Given the description of an element on the screen output the (x, y) to click on. 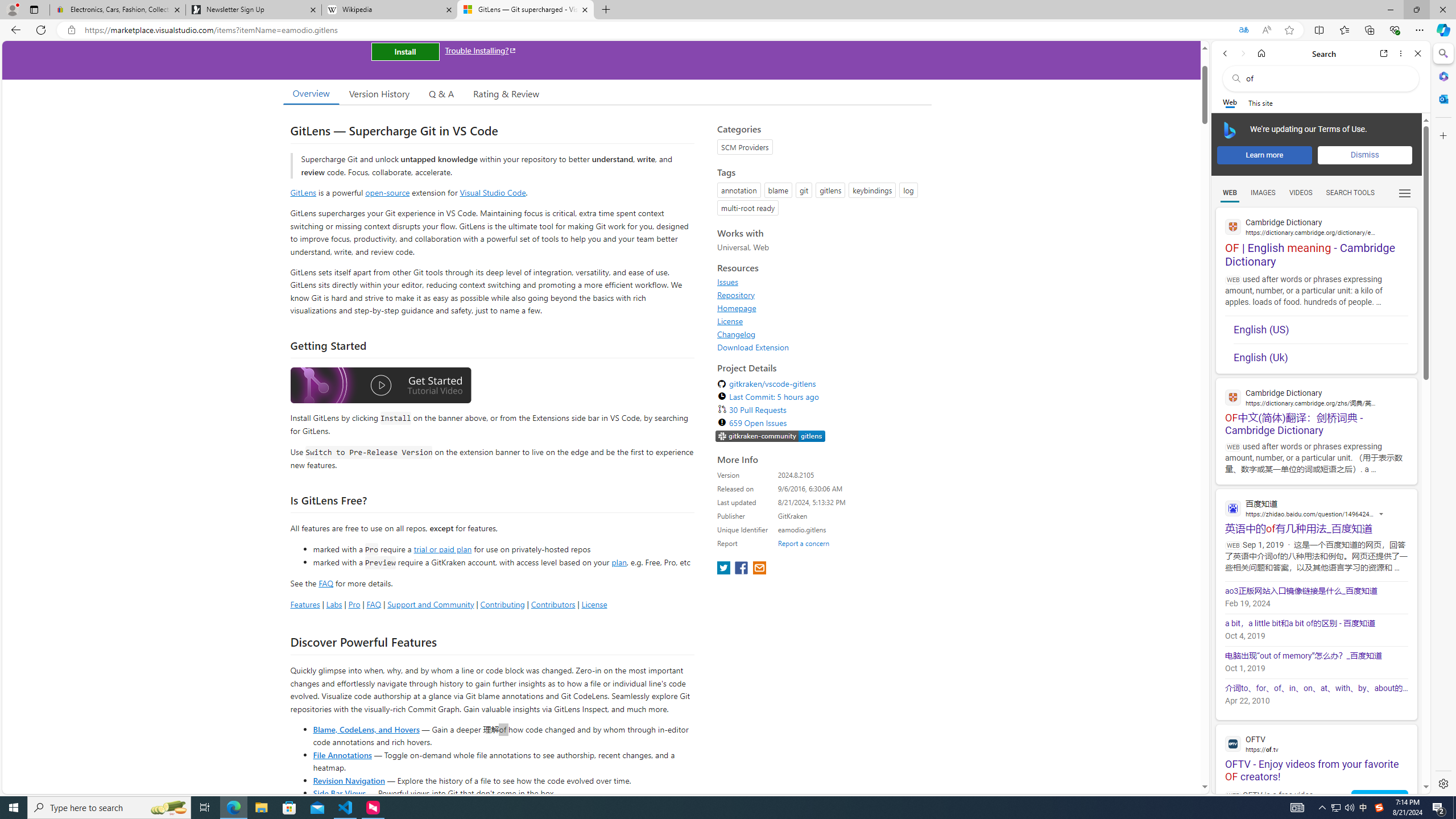
English (US) (1320, 329)
English (US) (1320, 329)
Revision Navigation (348, 780)
This site scope (1259, 102)
IMAGES (1262, 192)
Rating & Review (505, 92)
SEARCH TOOLS (1350, 192)
Download Extension (753, 346)
